Given the description of an element on the screen output the (x, y) to click on. 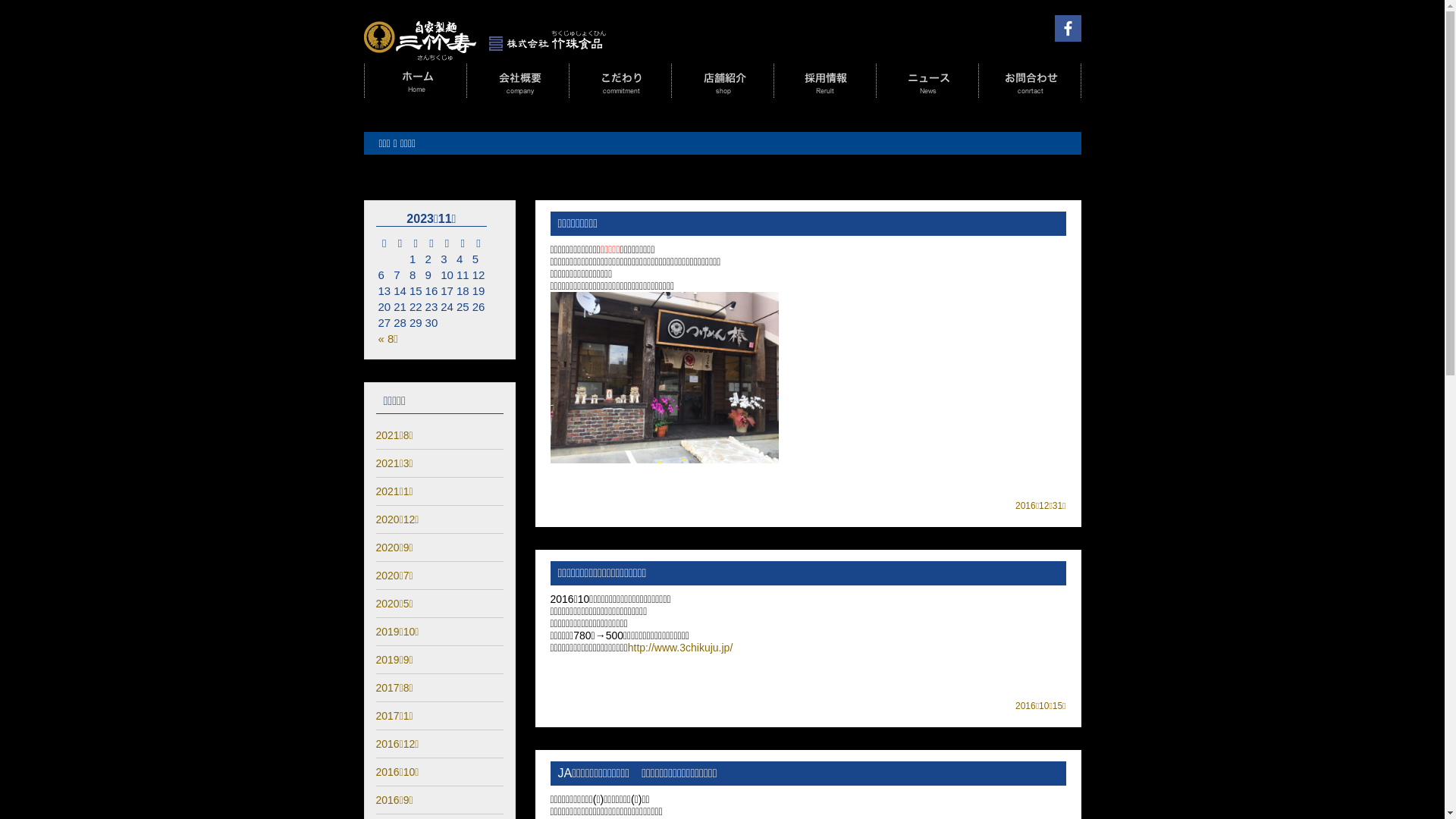
http://www.3chikuju.jp/ Element type: text (680, 647)
